Given the description of an element on the screen output the (x, y) to click on. 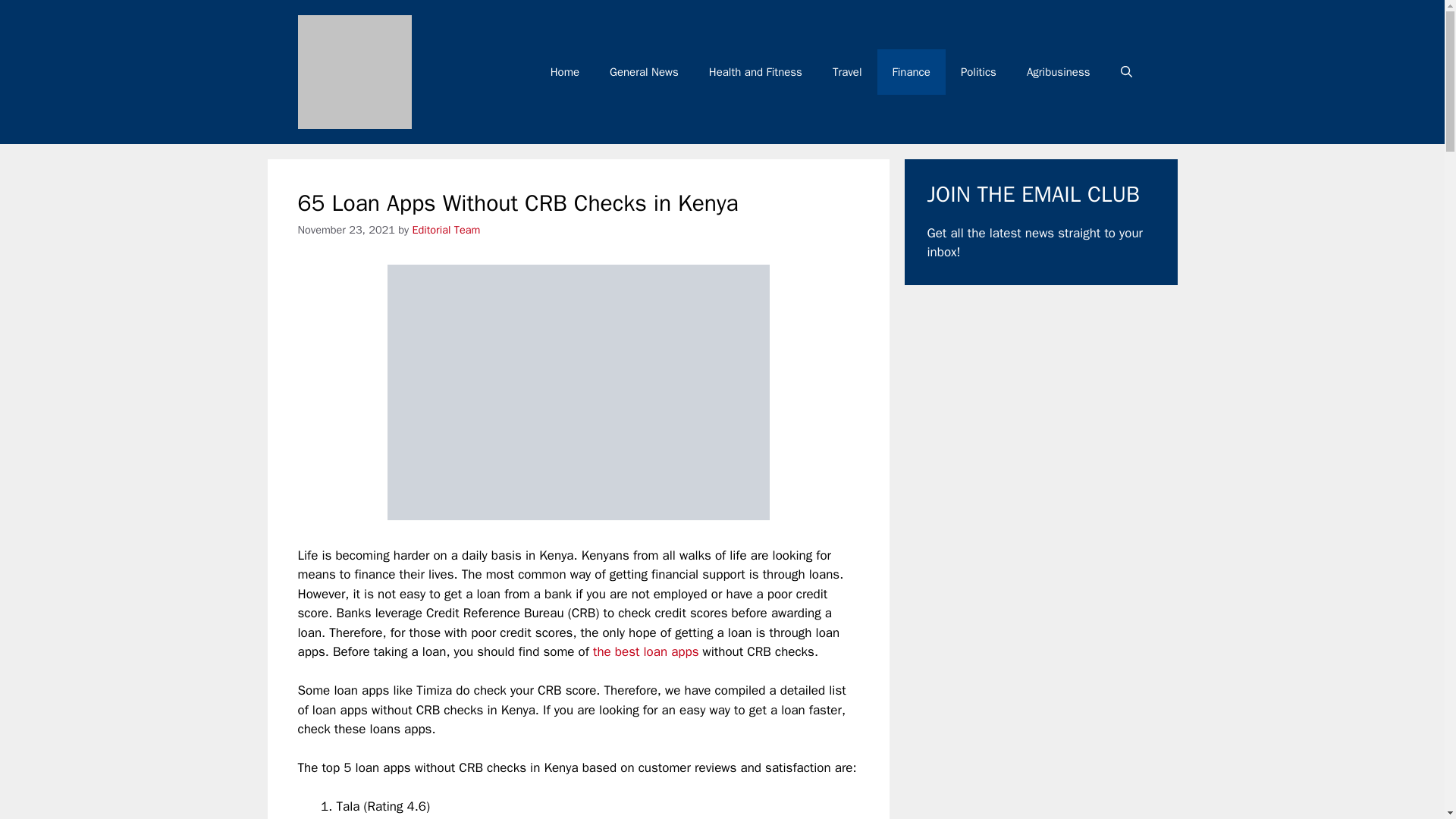
General News (644, 72)
Agribusiness (1058, 72)
Travel (846, 72)
Editorial Team (446, 229)
View all posts by Editorial Team (446, 229)
Home (564, 72)
Health and Fitness (755, 72)
the best loan apps (645, 651)
Politics (977, 72)
Finance (910, 72)
